Given the description of an element on the screen output the (x, y) to click on. 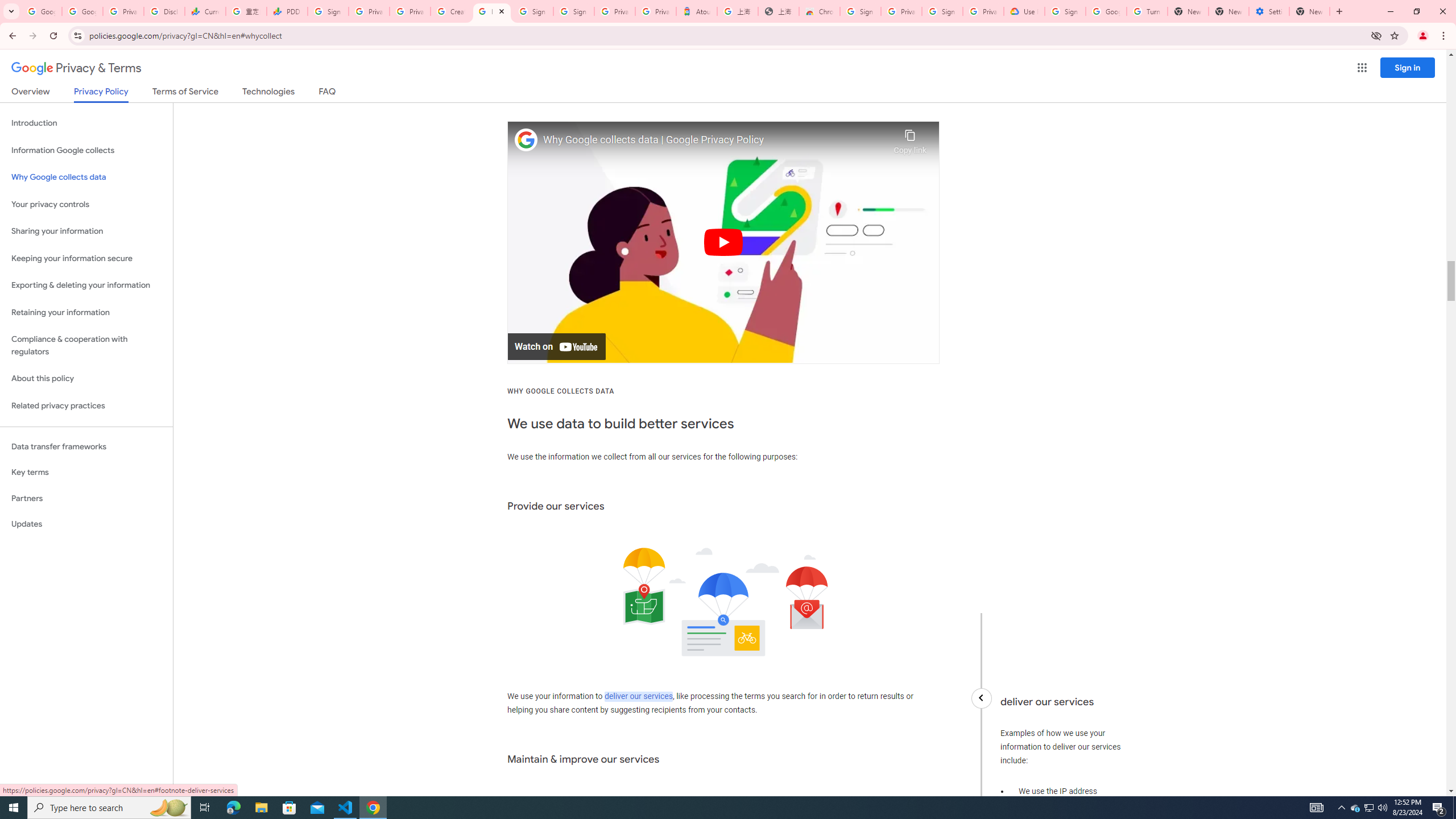
Settings - System (1268, 11)
Why Google collects data | Google Privacy Policy (715, 140)
PDD Holdings Inc - ADR (PDD) Price & News - Google Finance (287, 11)
Related privacy practices (86, 405)
